Given the description of an element on the screen output the (x, y) to click on. 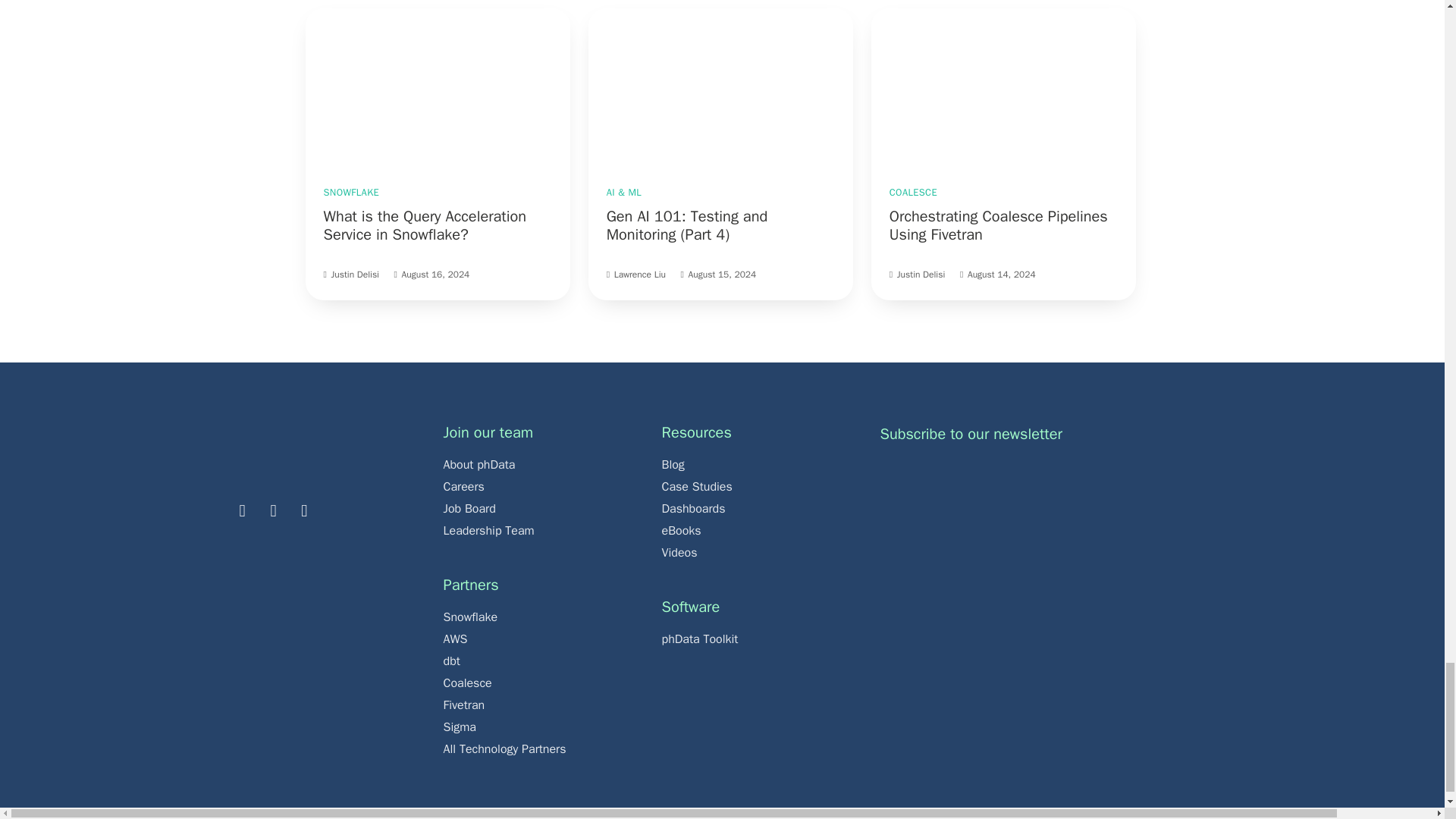
Posts by Justin Delisi (354, 274)
Posts by Justin Delisi (920, 274)
Posts by Lawrence Liu (639, 274)
